Given the description of an element on the screen output the (x, y) to click on. 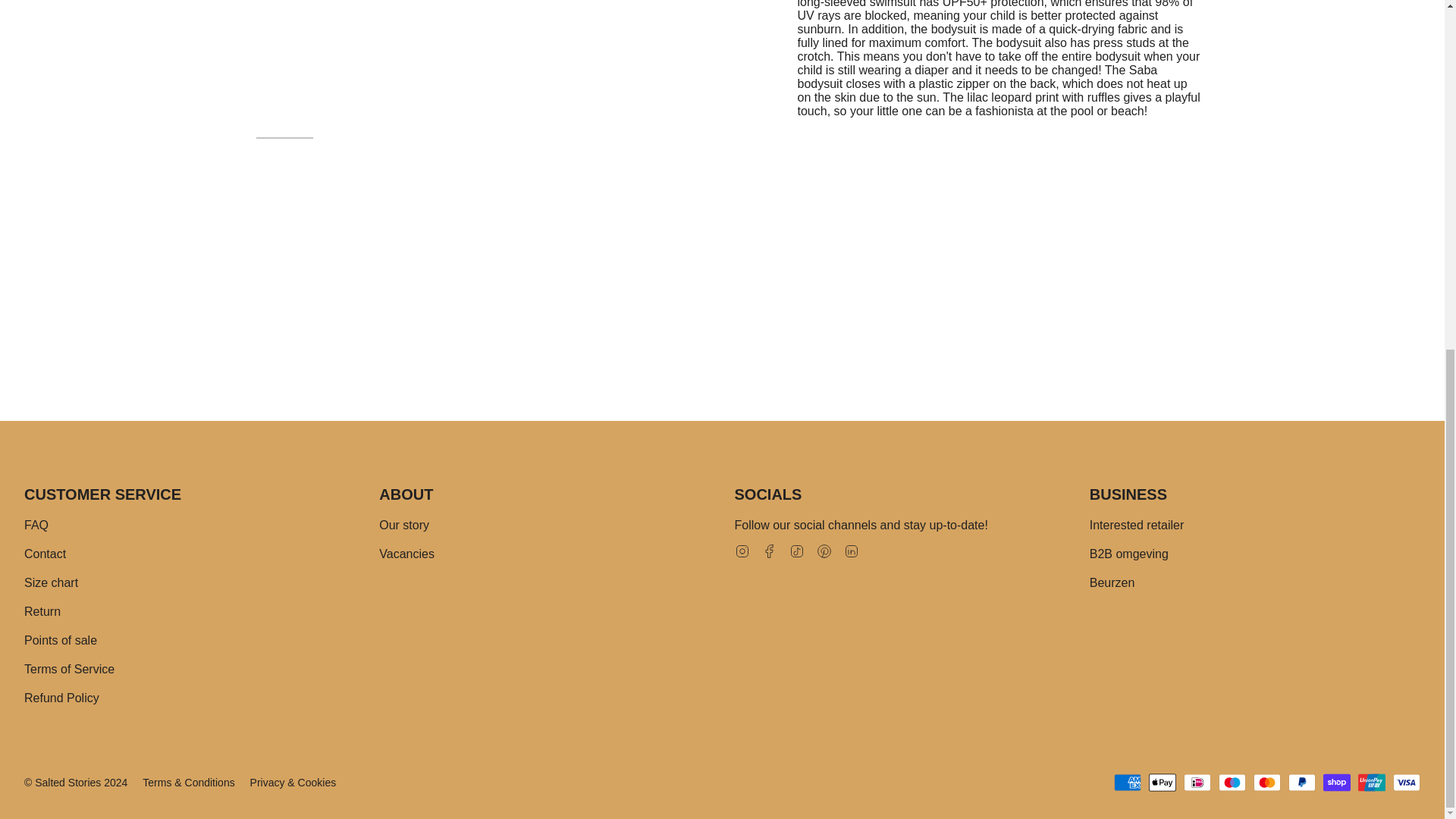
Salted Stories on Linkedin (851, 549)
Salted Stories on TikTok (796, 549)
Salted Stories on Pinterest (823, 549)
Salted Stories on Facebook (768, 549)
Salted Stories on Instagram (741, 549)
